Given the description of an element on the screen output the (x, y) to click on. 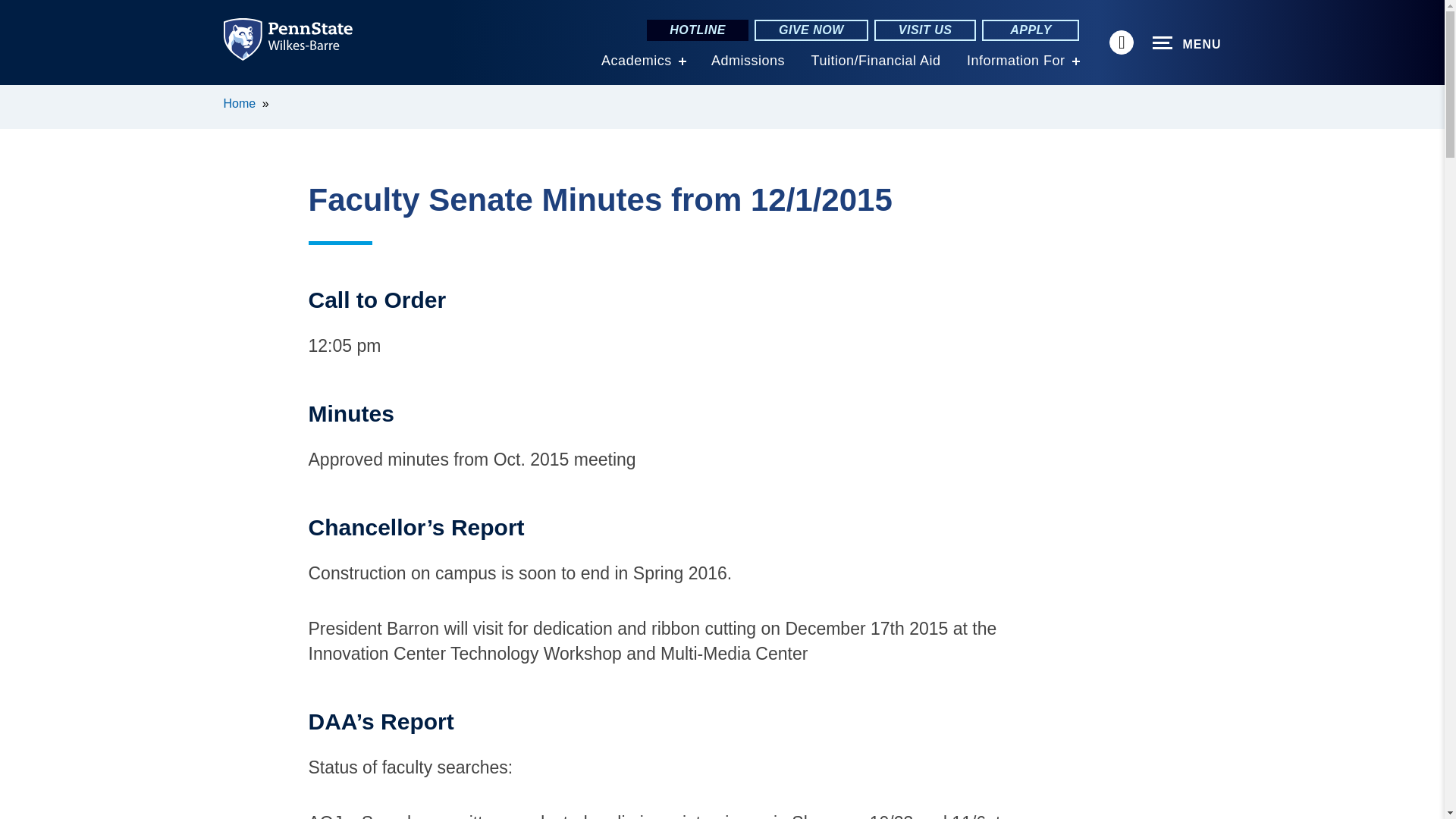
SKIP TO MAIN CONTENT (19, 95)
Information For (1015, 60)
Academics (636, 60)
APPLY (1029, 29)
GIVE NOW (810, 29)
VISIT US (925, 29)
Admissions (747, 60)
HOTLINE (697, 29)
MENU (1187, 43)
